Given the description of an element on the screen output the (x, y) to click on. 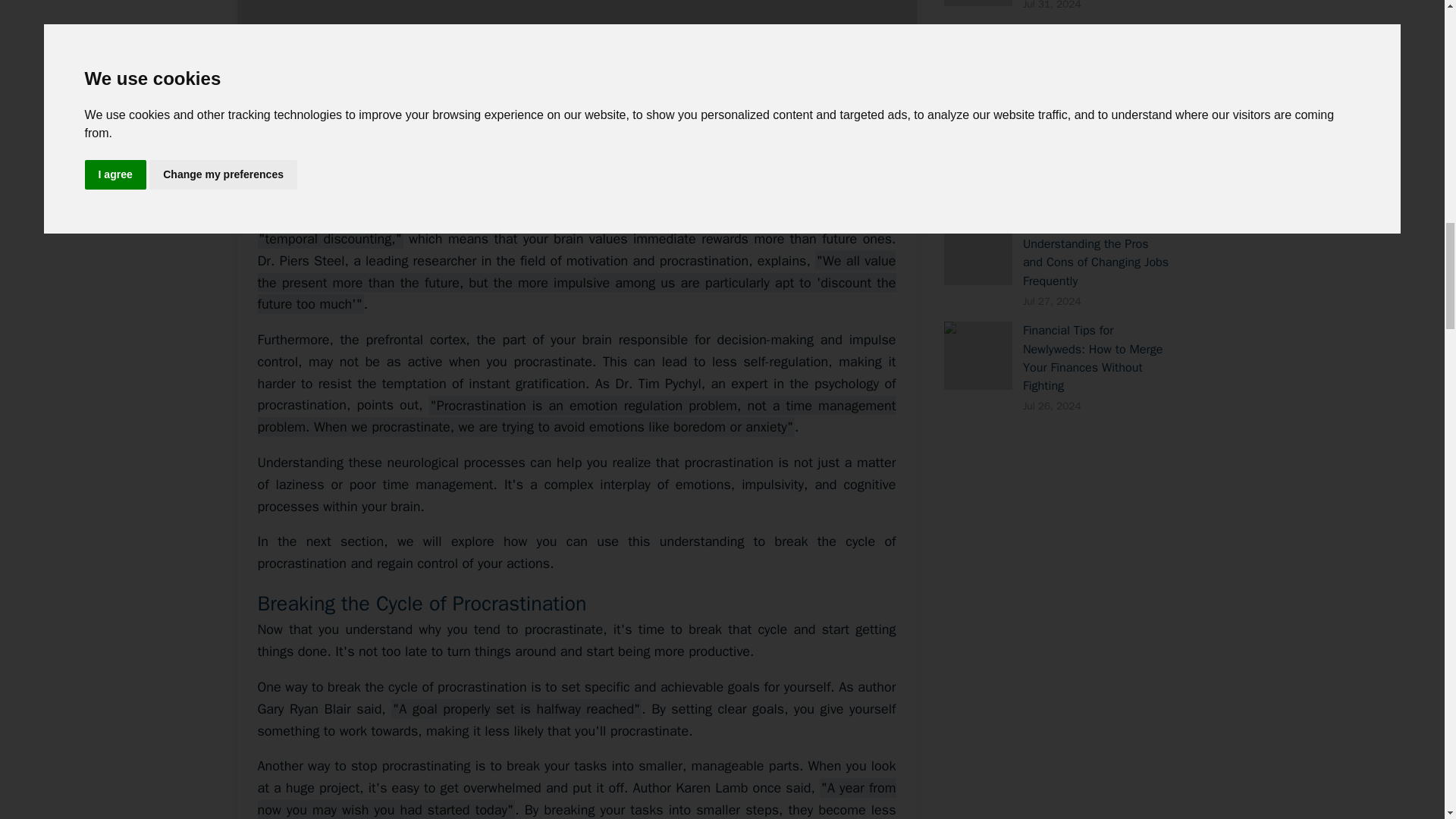
Jon Tyson (807, 152)
Unsplash (873, 152)
